Given the description of an element on the screen output the (x, y) to click on. 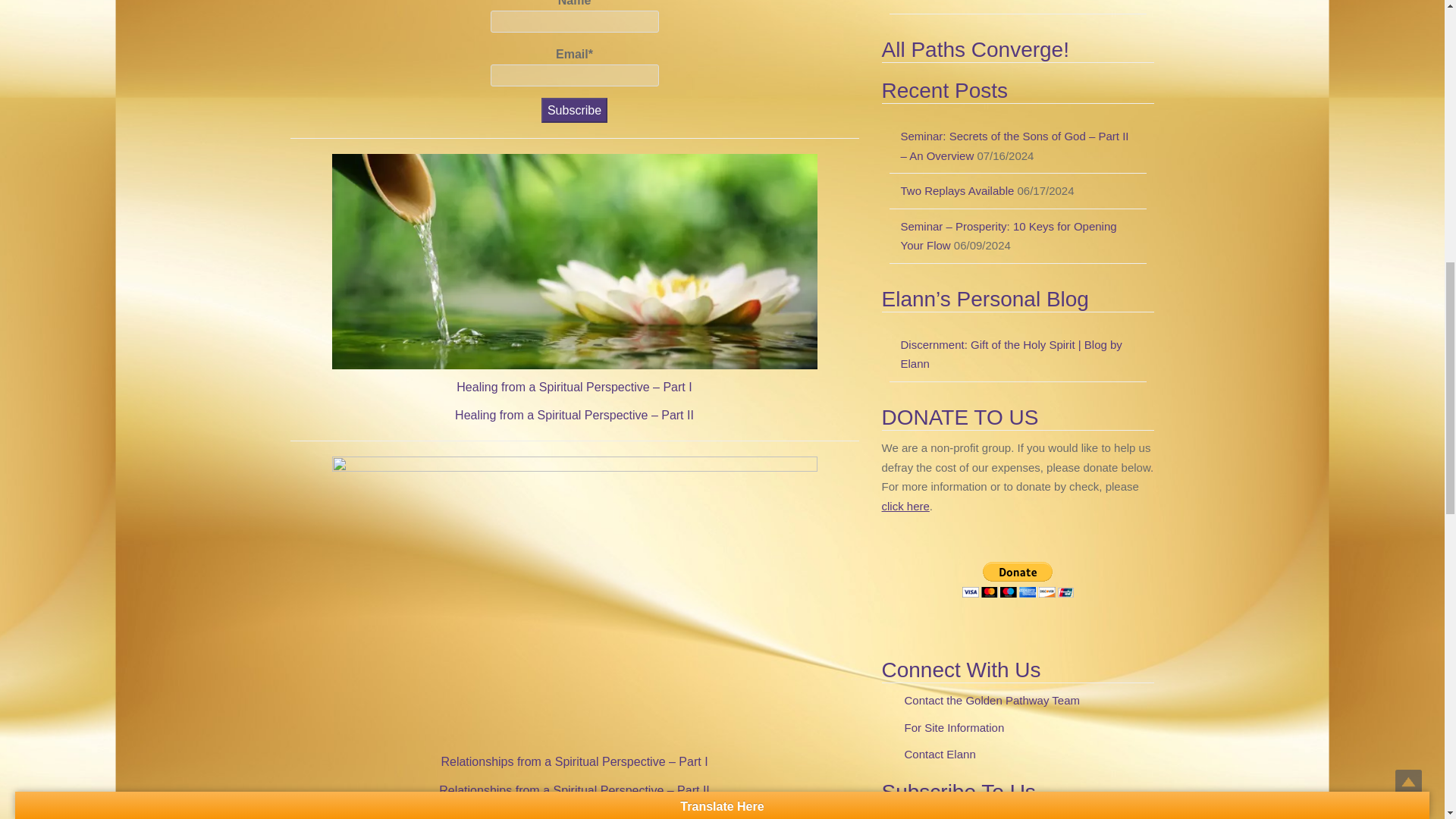
Subscribe (574, 109)
